Given the description of an element on the screen output the (x, y) to click on. 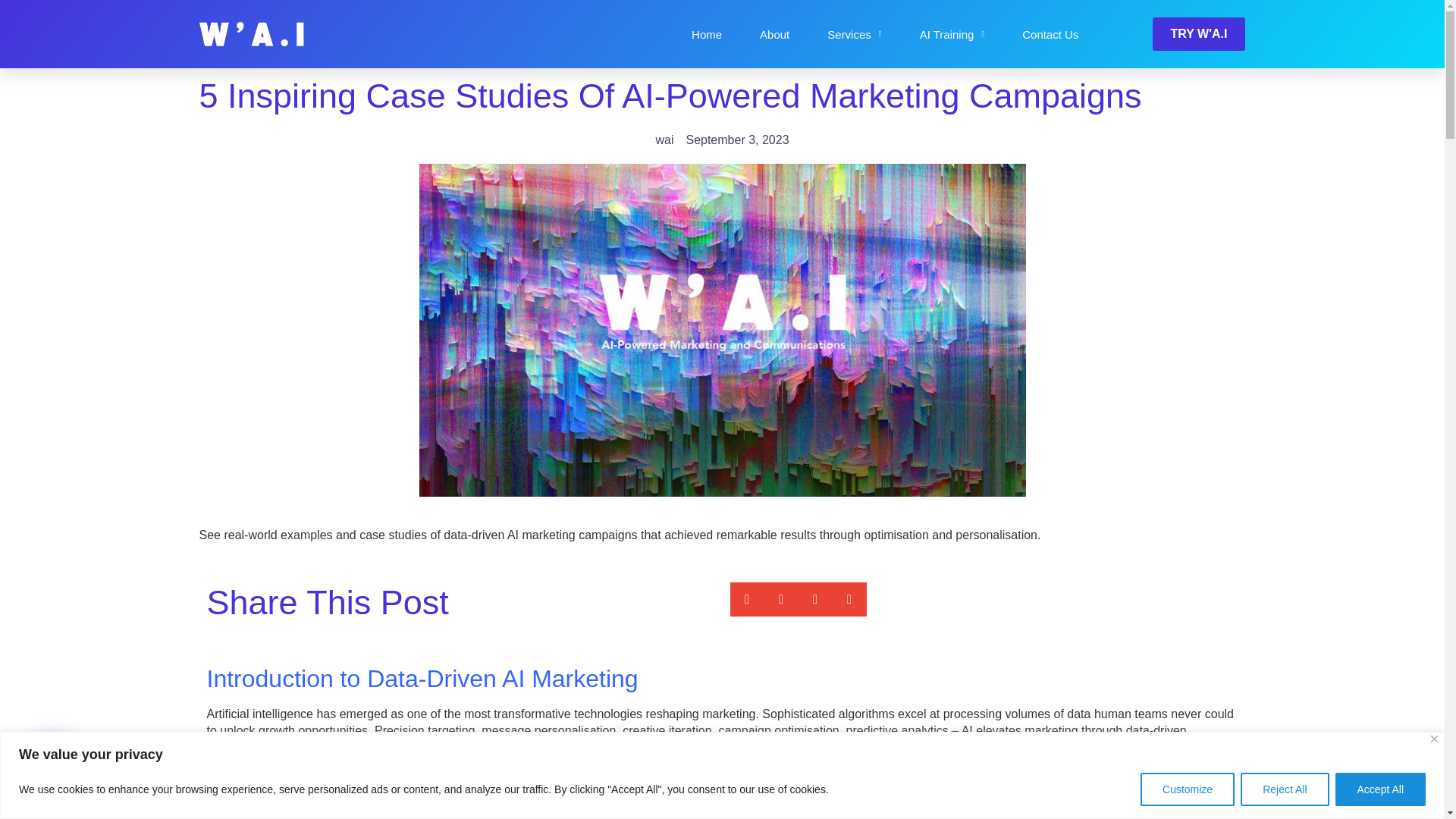
AI Training (952, 34)
Accept All (1380, 788)
Customize (1187, 788)
Reject All (1283, 788)
